Given the description of an element on the screen output the (x, y) to click on. 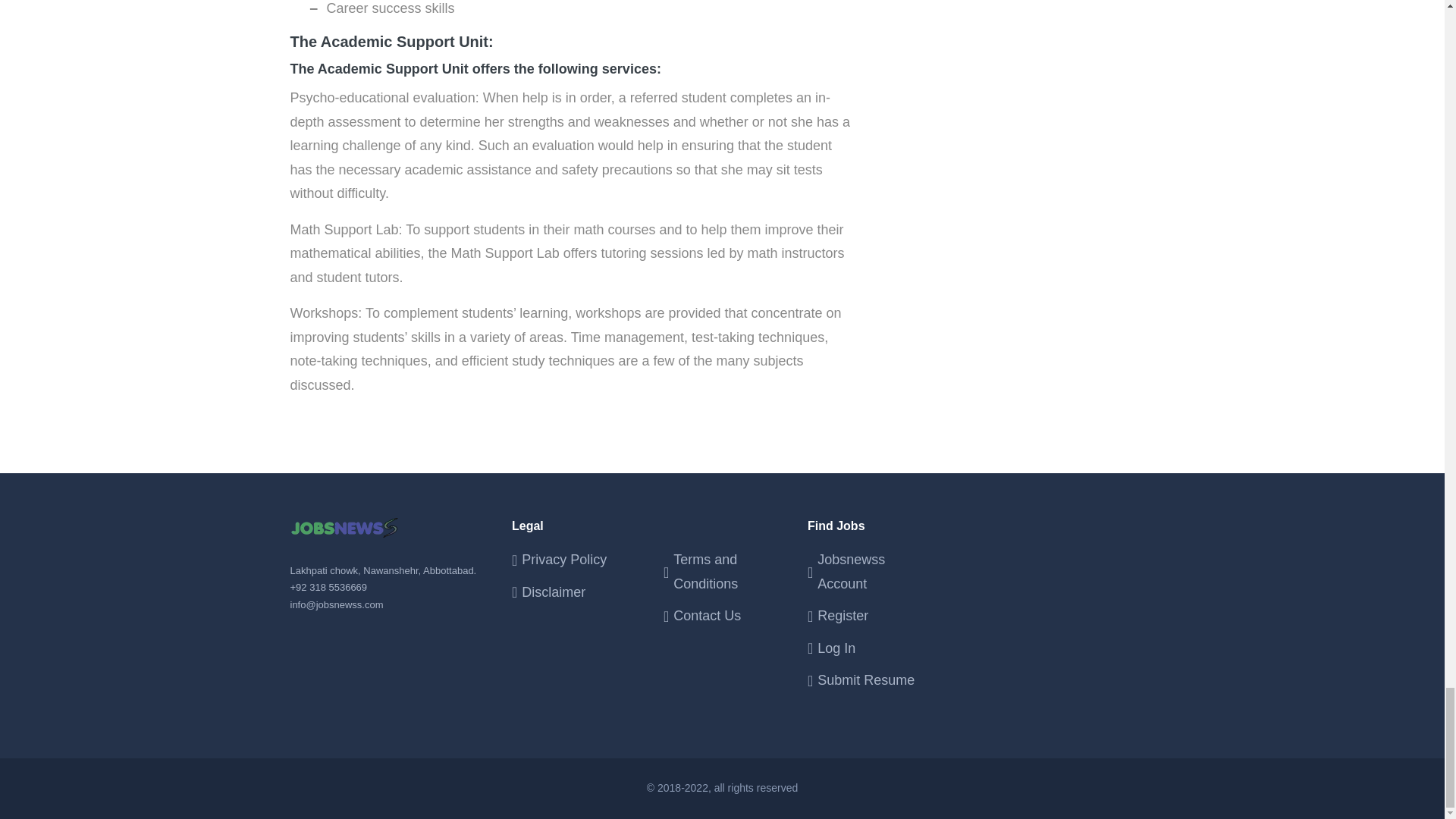
Disclaimer (577, 592)
Contact Us (728, 616)
Register (874, 616)
Log In (874, 648)
Privacy Policy (577, 559)
Terms and Conditions (728, 571)
92 318 5536669 (330, 586)
Jobsnewss Account (874, 571)
Submit Resume (874, 680)
